Given the description of an element on the screen output the (x, y) to click on. 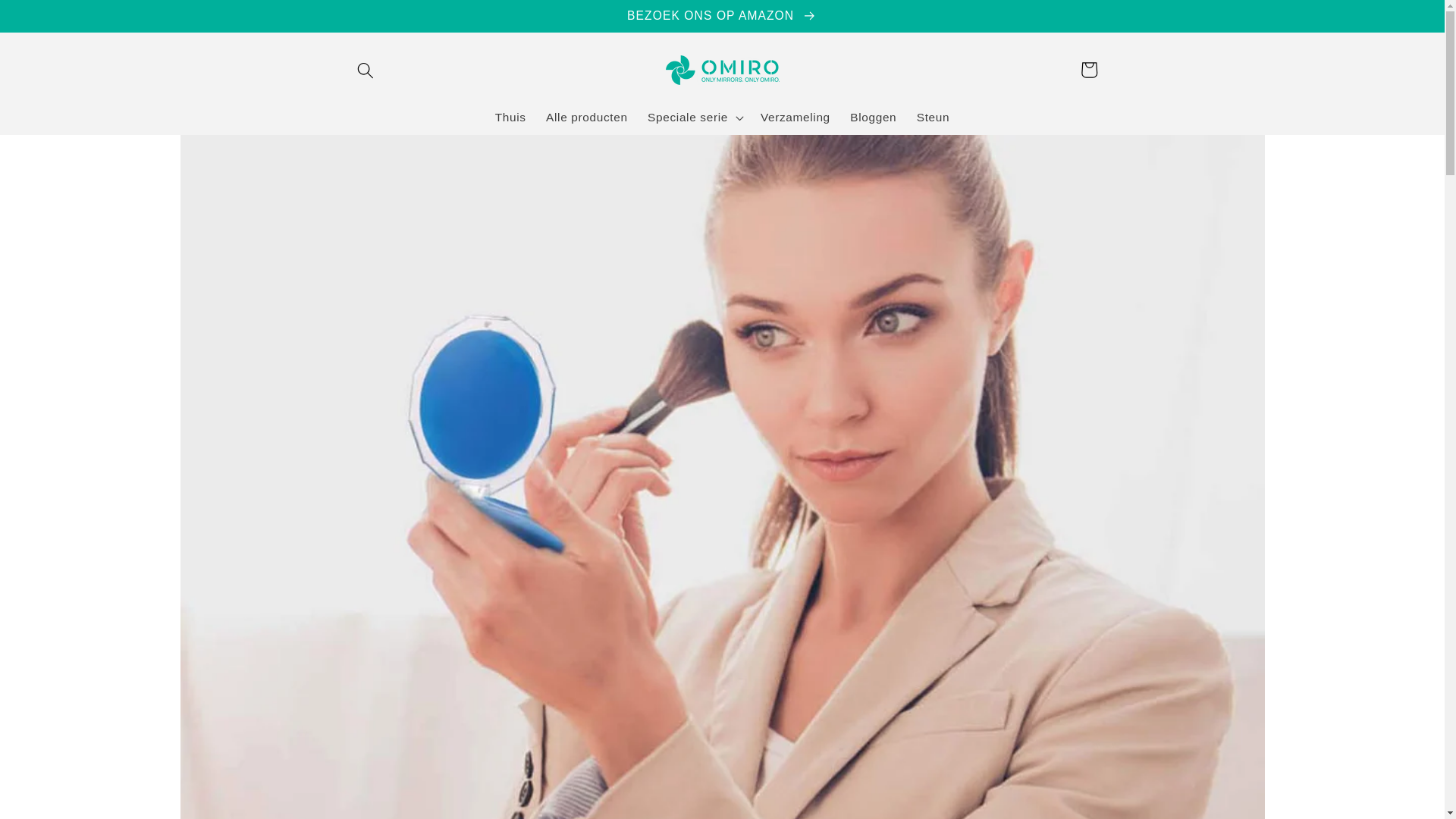
Thuis (509, 117)
Alle producten (586, 117)
Steun (933, 117)
Winkelwagen (1088, 69)
Bloggen (872, 117)
Meteen naar de content (49, 18)
Verzameling (795, 117)
